Given the description of an element on the screen output the (x, y) to click on. 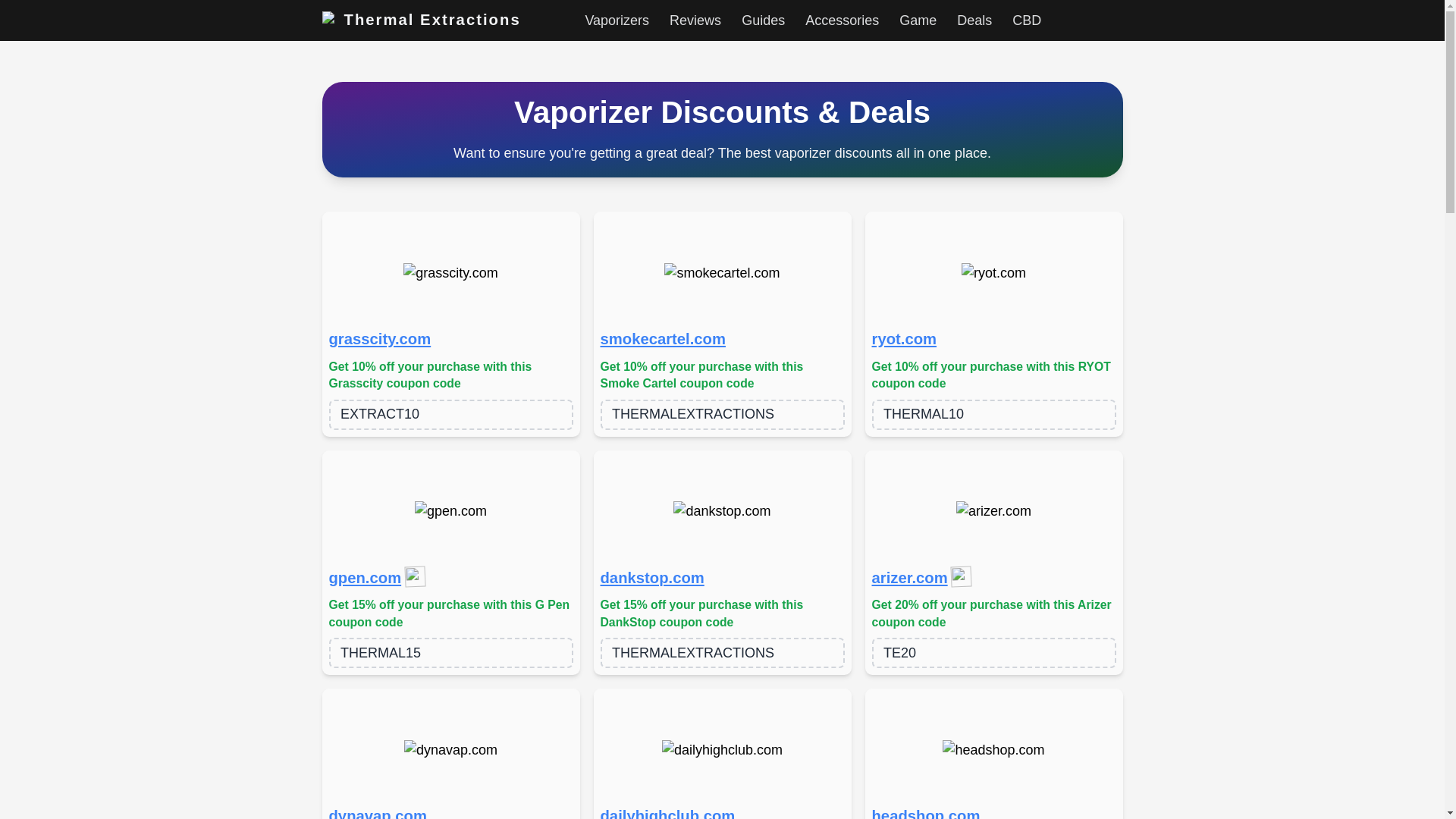
Accessories (842, 19)
Reviews (694, 19)
headshop.com (925, 811)
Deals (973, 19)
CBD (1026, 19)
Vaporizers (617, 19)
Thermal Extractions (420, 20)
smokecartel.com (662, 339)
gpen.com (365, 577)
Guides (762, 19)
